Given the description of an element on the screen output the (x, y) to click on. 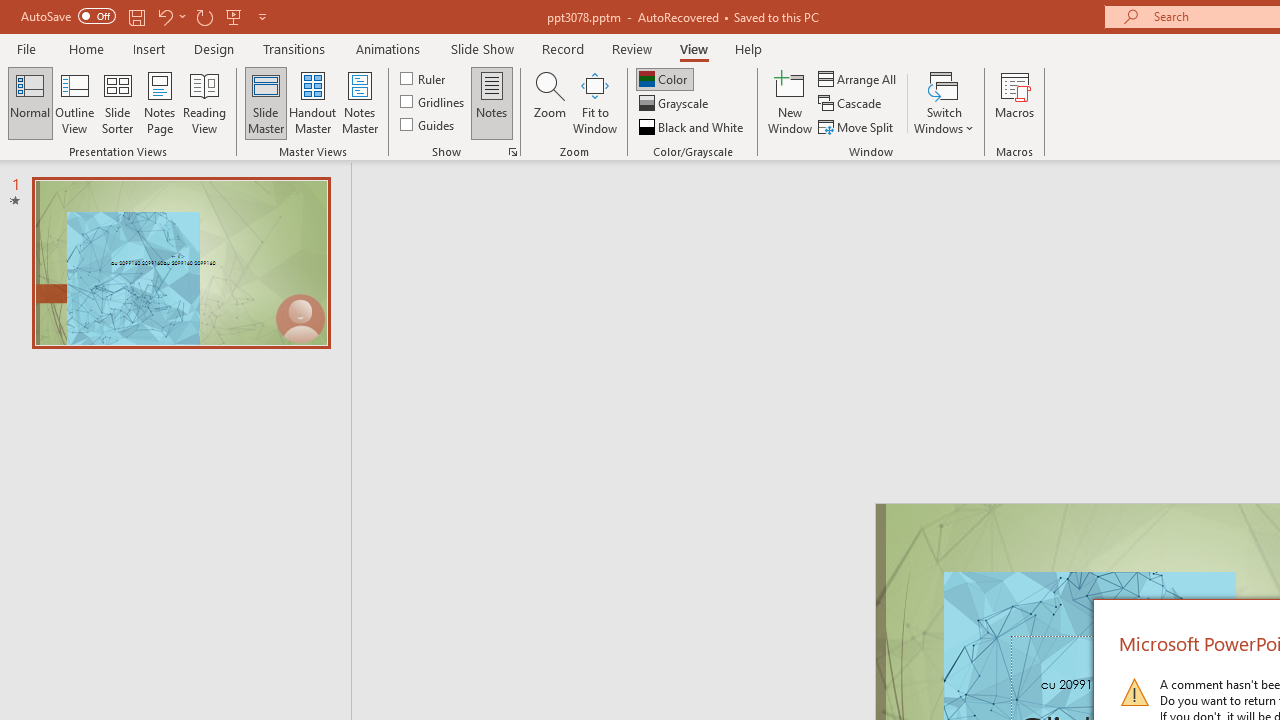
Black and White (693, 126)
Gridlines (433, 101)
Zoom... (549, 102)
Macros (1014, 102)
Outline View (74, 102)
Fit to Window (594, 102)
Notes Page (159, 102)
Cascade (851, 103)
